Given the description of an element on the screen output the (x, y) to click on. 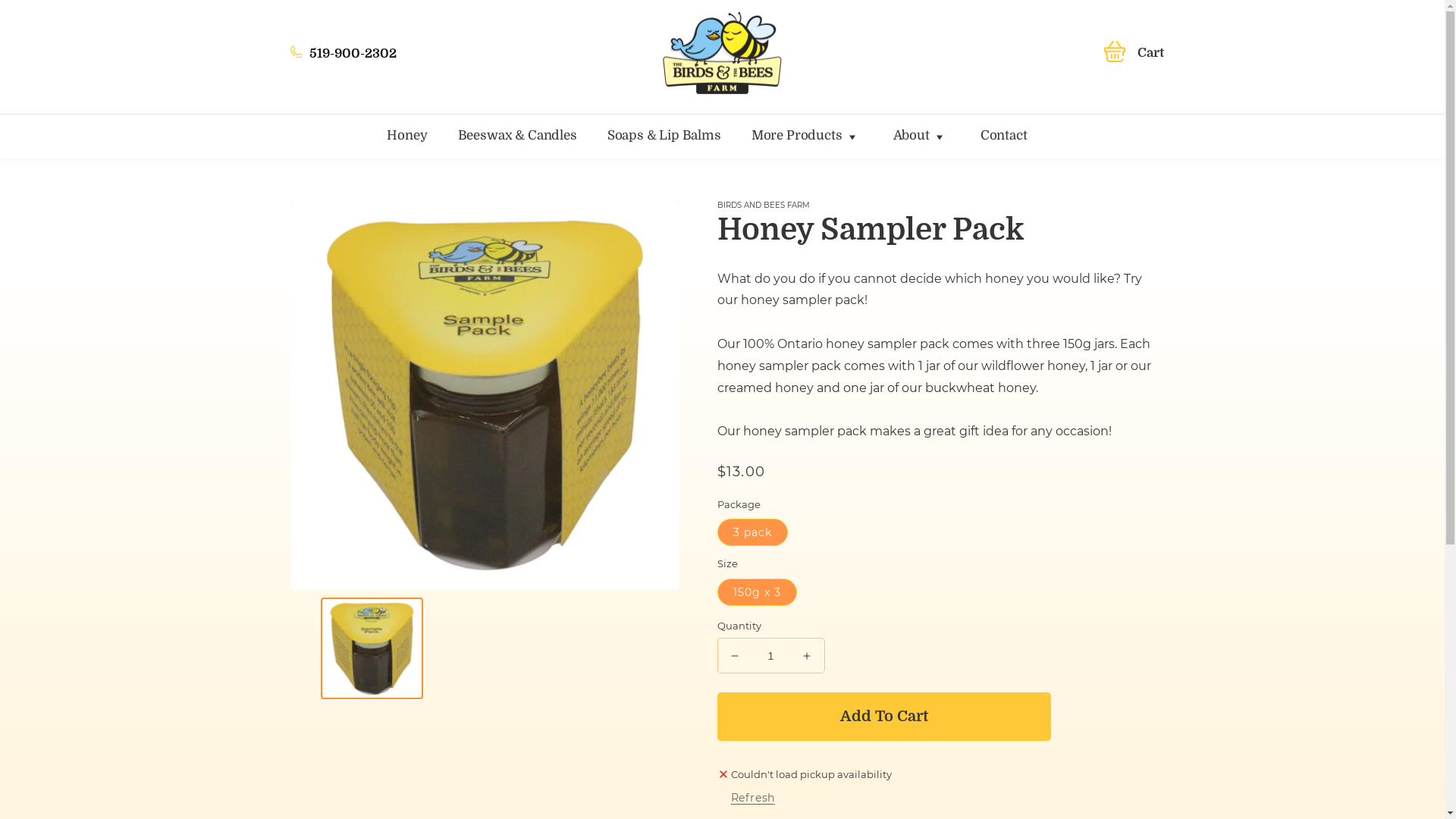
Refresh Element type: text (753, 798)
Cart Element type: text (1134, 52)
519-900-2302 Element type: text (397, 52)
Increase quantity for Honey Sampler Pack Element type: text (807, 655)
Honey Element type: text (421, 135)
Contact Element type: text (1018, 135)
Decrease quantity for Honey Sampler Pack Element type: text (734, 655)
Add To Cart Element type: text (884, 716)
Soaps & Lip Balms Element type: text (679, 135)
Beeswax & Candles Element type: text (532, 135)
